Given the description of an element on the screen output the (x, y) to click on. 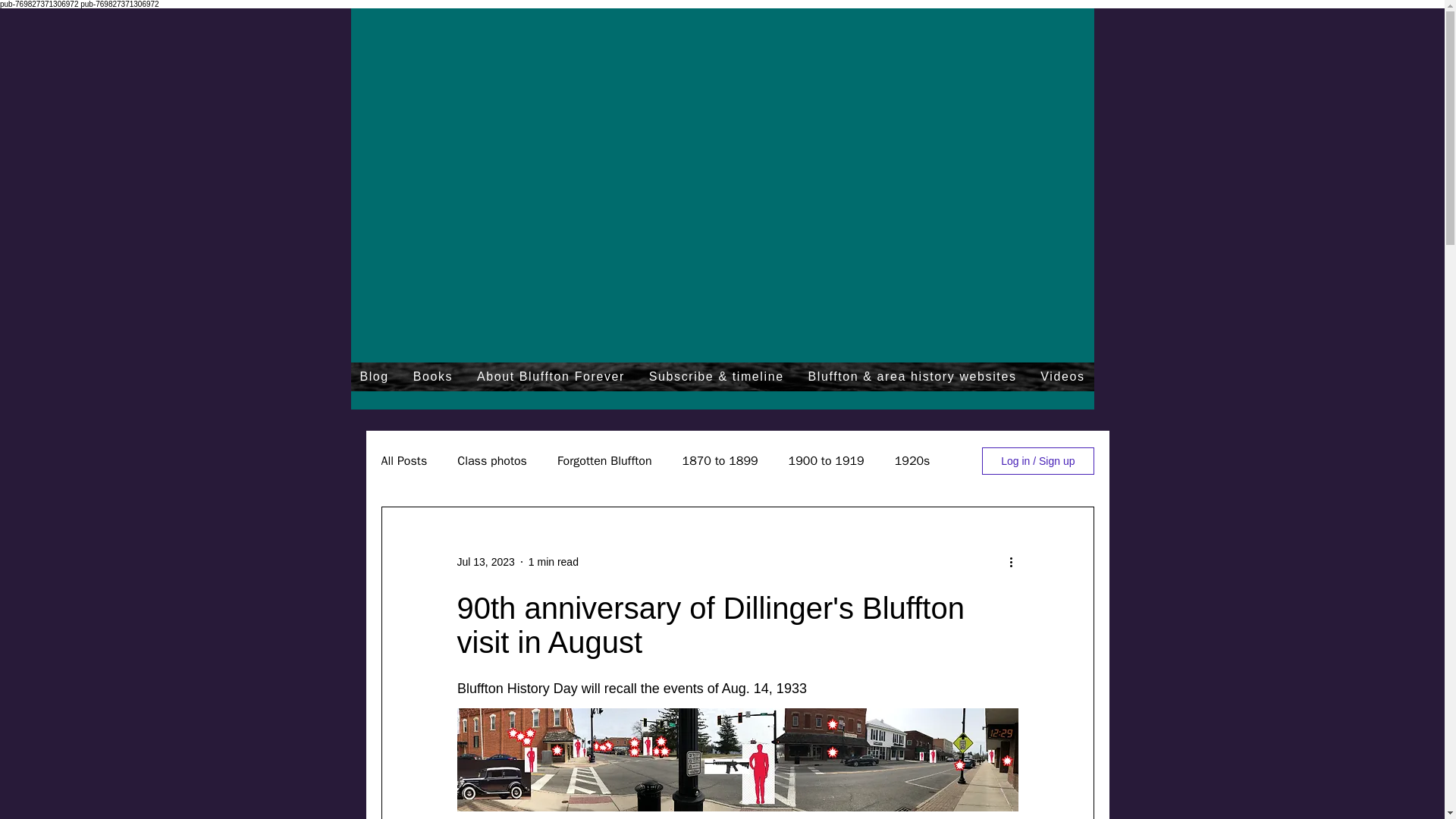
About Bluffton Forever (550, 376)
All Posts (403, 461)
Books (432, 376)
Class photos (492, 461)
1870 to 1899 (720, 461)
1 min read (553, 561)
1920s (912, 461)
Blog (373, 376)
Jul 13, 2023 (485, 561)
Videos (1061, 376)
